Given the description of an element on the screen output the (x, y) to click on. 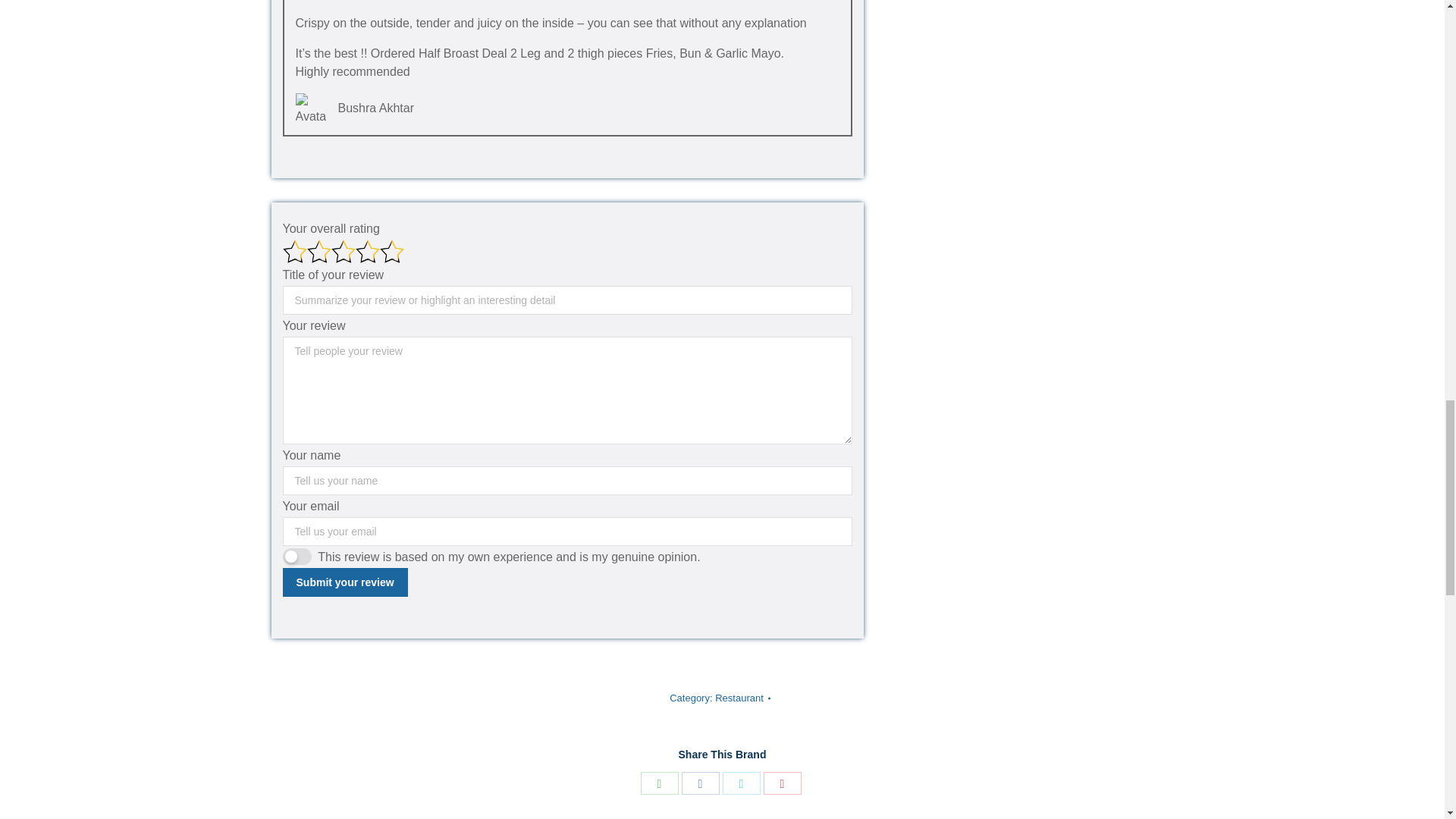
1 (296, 556)
